Given the description of an element on the screen output the (x, y) to click on. 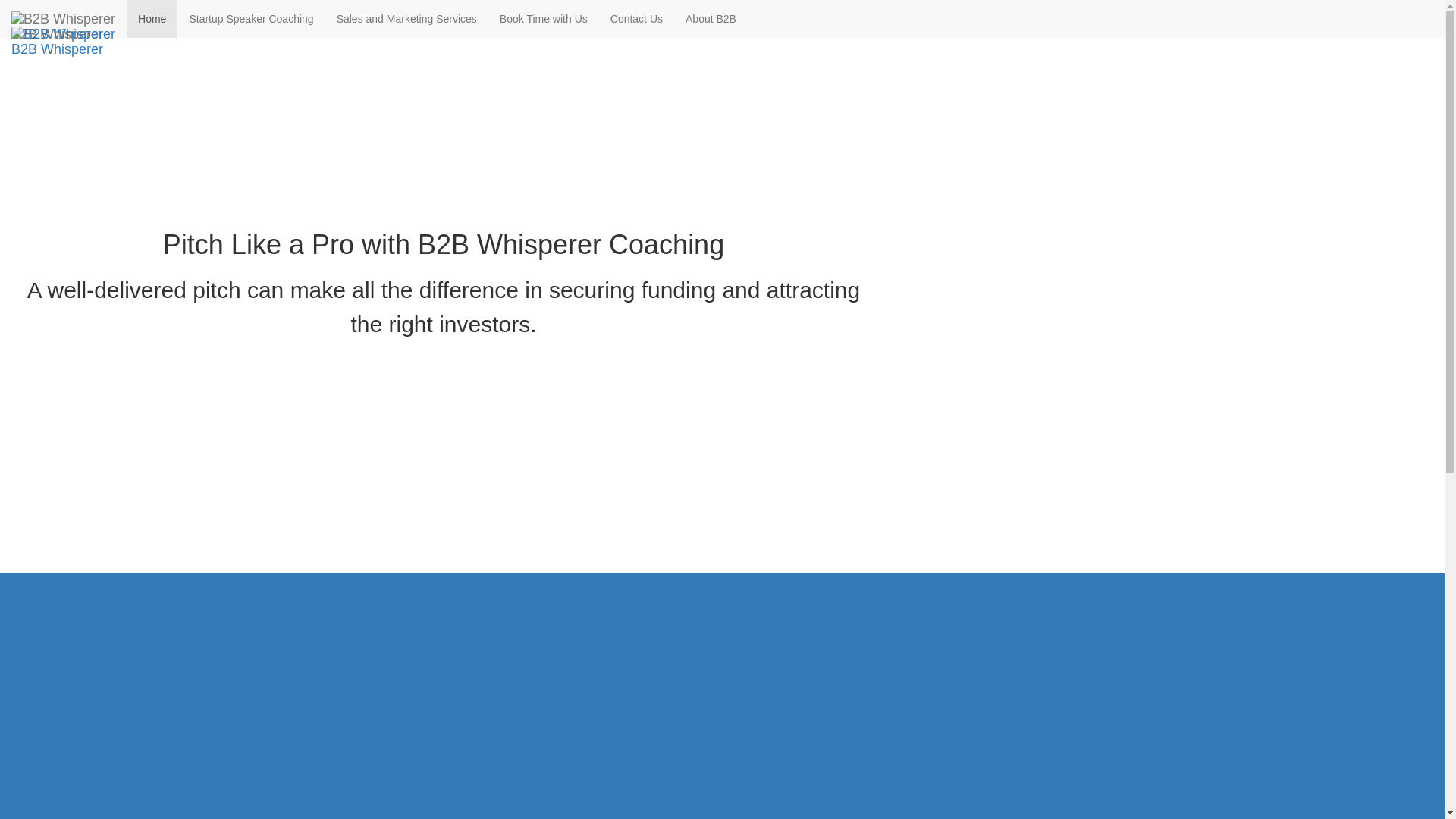
Home (151, 18)
Contact Us (636, 18)
About B2B (711, 18)
B2B Whisperer (63, 18)
Startup Speaker Coaching (250, 18)
Book Time with Us (542, 18)
Sales and Marketing Services (405, 18)
B2B Whisperer (63, 34)
